Given the description of an element on the screen output the (x, y) to click on. 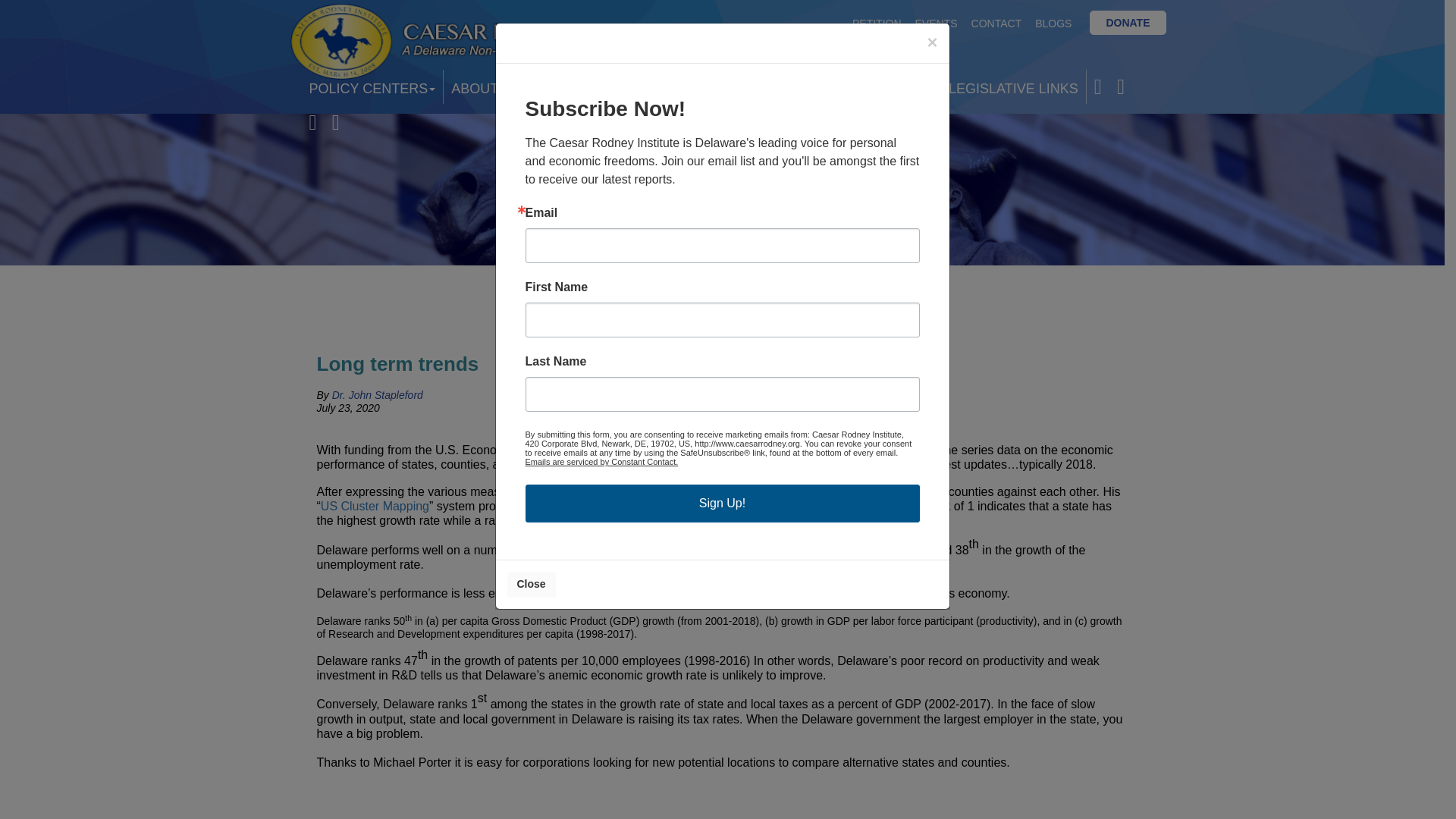
CRI NEWS (622, 86)
CONTACT (996, 23)
HOME (546, 86)
ABOUT (478, 86)
POLICY CENTERS (372, 86)
ENERGY UPDATES (735, 86)
DONATE (1127, 22)
LEGISLATIVE LINKS (1013, 86)
PENSION PORTAL (873, 86)
BLOGS (1052, 23)
EVENTS (935, 23)
PETITION (876, 23)
